Given the description of an element on the screen output the (x, y) to click on. 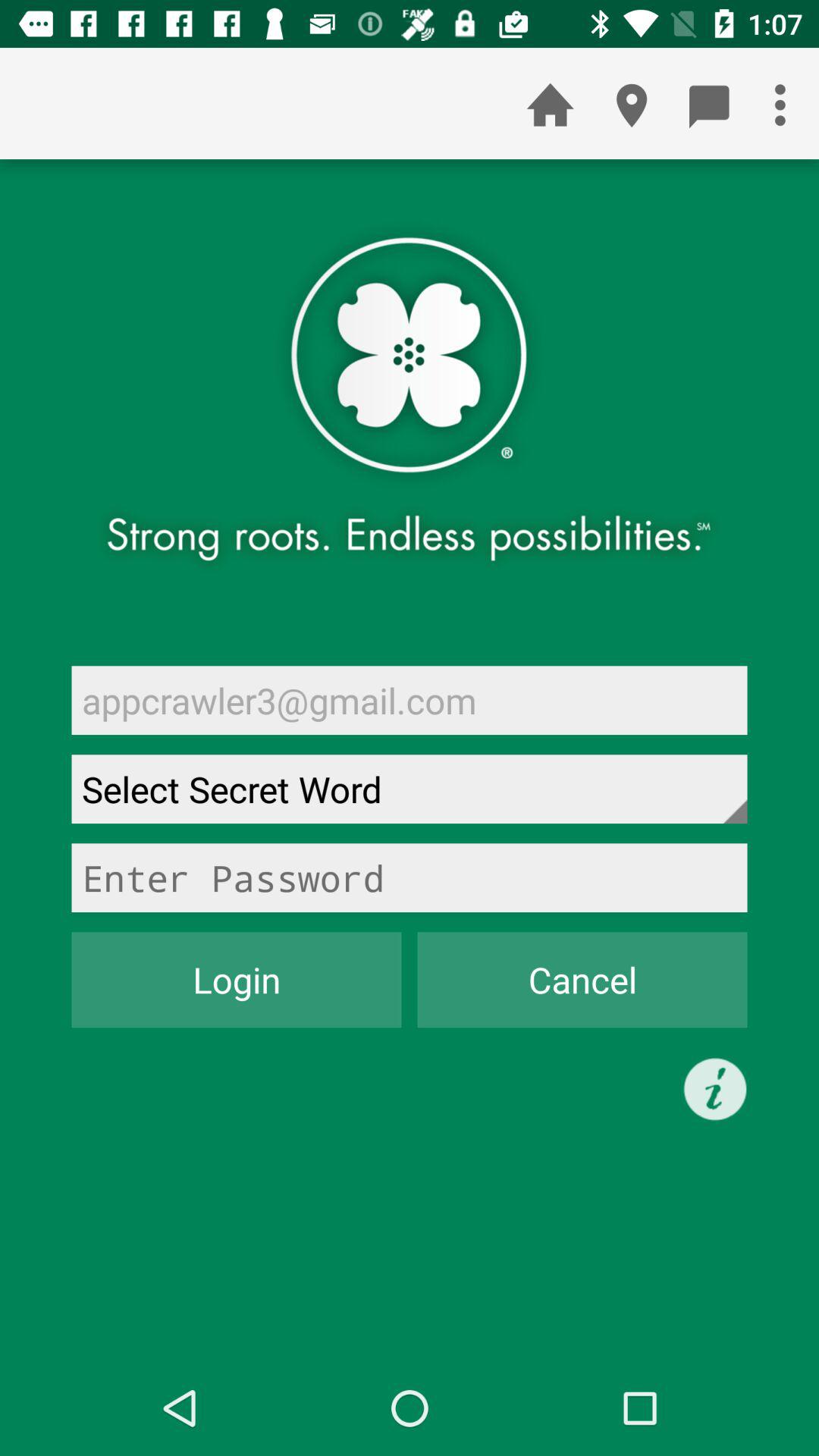
turn on item above login item (409, 877)
